Given the description of an element on the screen output the (x, y) to click on. 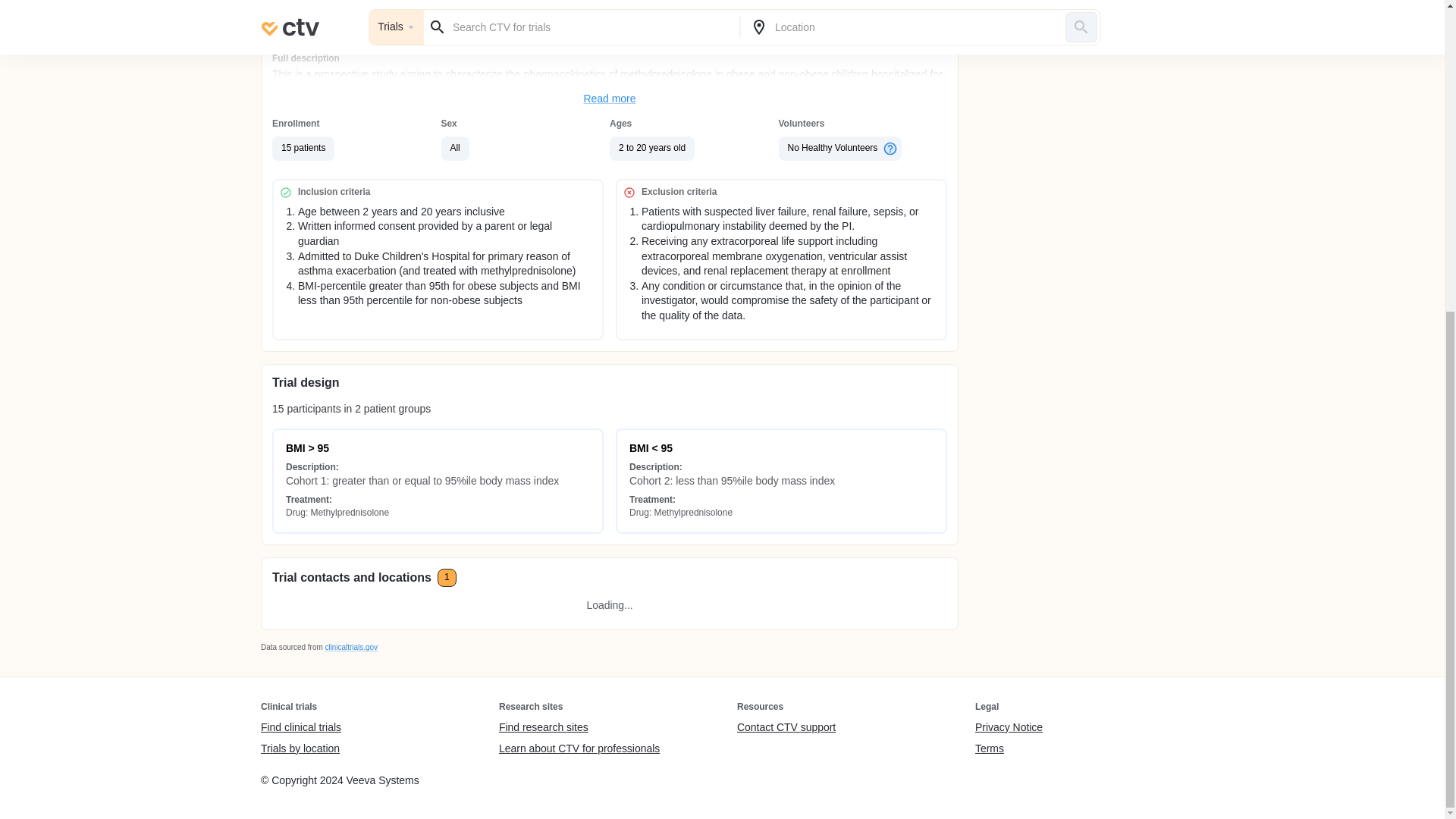
clinicaltrials.gov (350, 646)
Learn about CTV for professionals (579, 748)
Find research sites (579, 727)
Trials by location (300, 748)
Privacy Notice (1008, 727)
Find clinical trials (300, 727)
Read more (609, 99)
Terms (1008, 748)
Contact CTV support (785, 727)
